Given the description of an element on the screen output the (x, y) to click on. 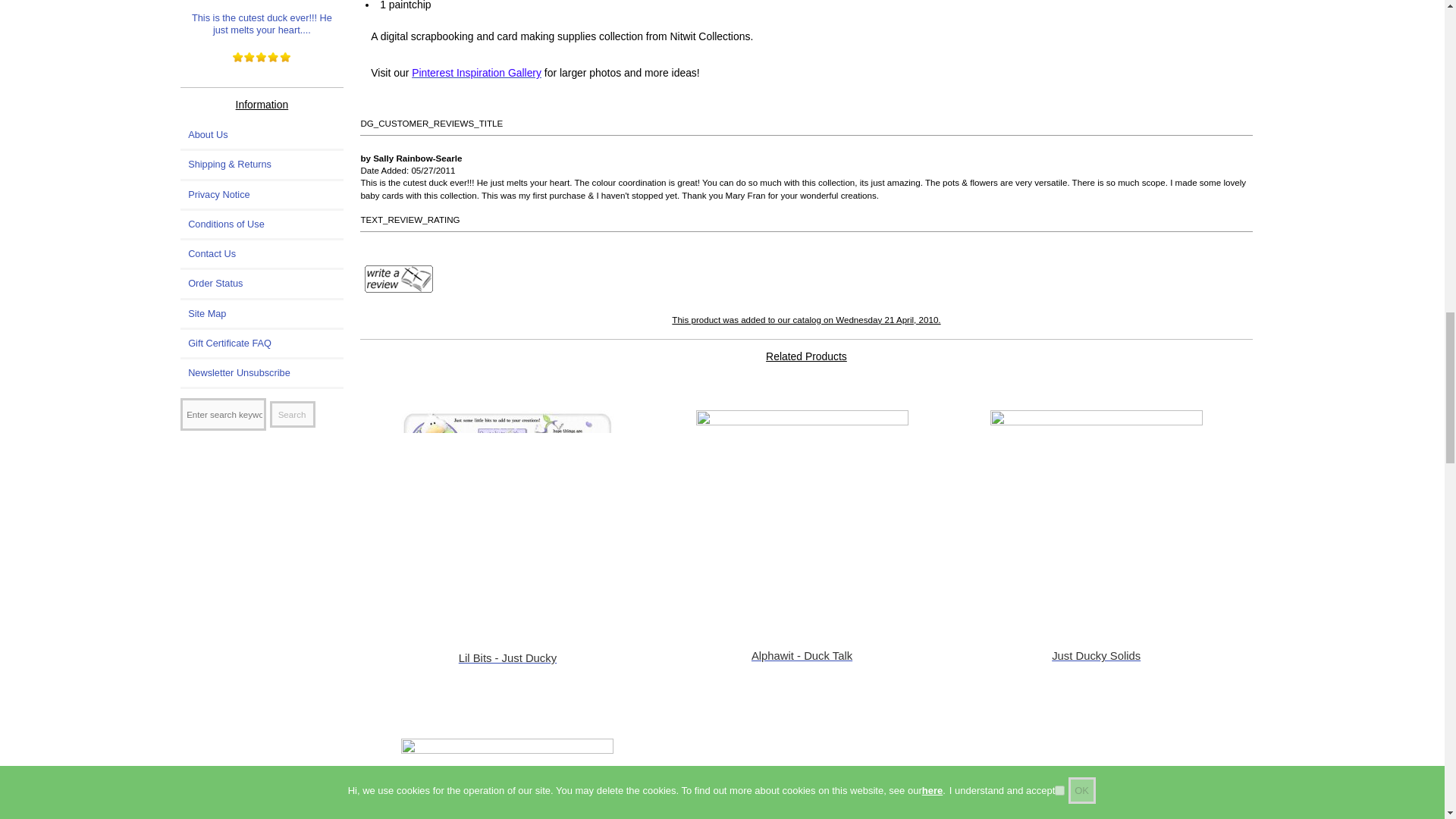
Just Ducky Too (506, 778)
This is the cutest duck ever!!! He just melts your heart.... (261, 19)
Alphawit - Duck Talk (801, 516)
Write Review (398, 278)
Conditions of Use (261, 224)
Search (292, 414)
About Us (261, 134)
Lil Bits - Just Ducky (506, 516)
5 of 5 Stars! (261, 57)
Privacy Notice (261, 194)
